Given the description of an element on the screen output the (x, y) to click on. 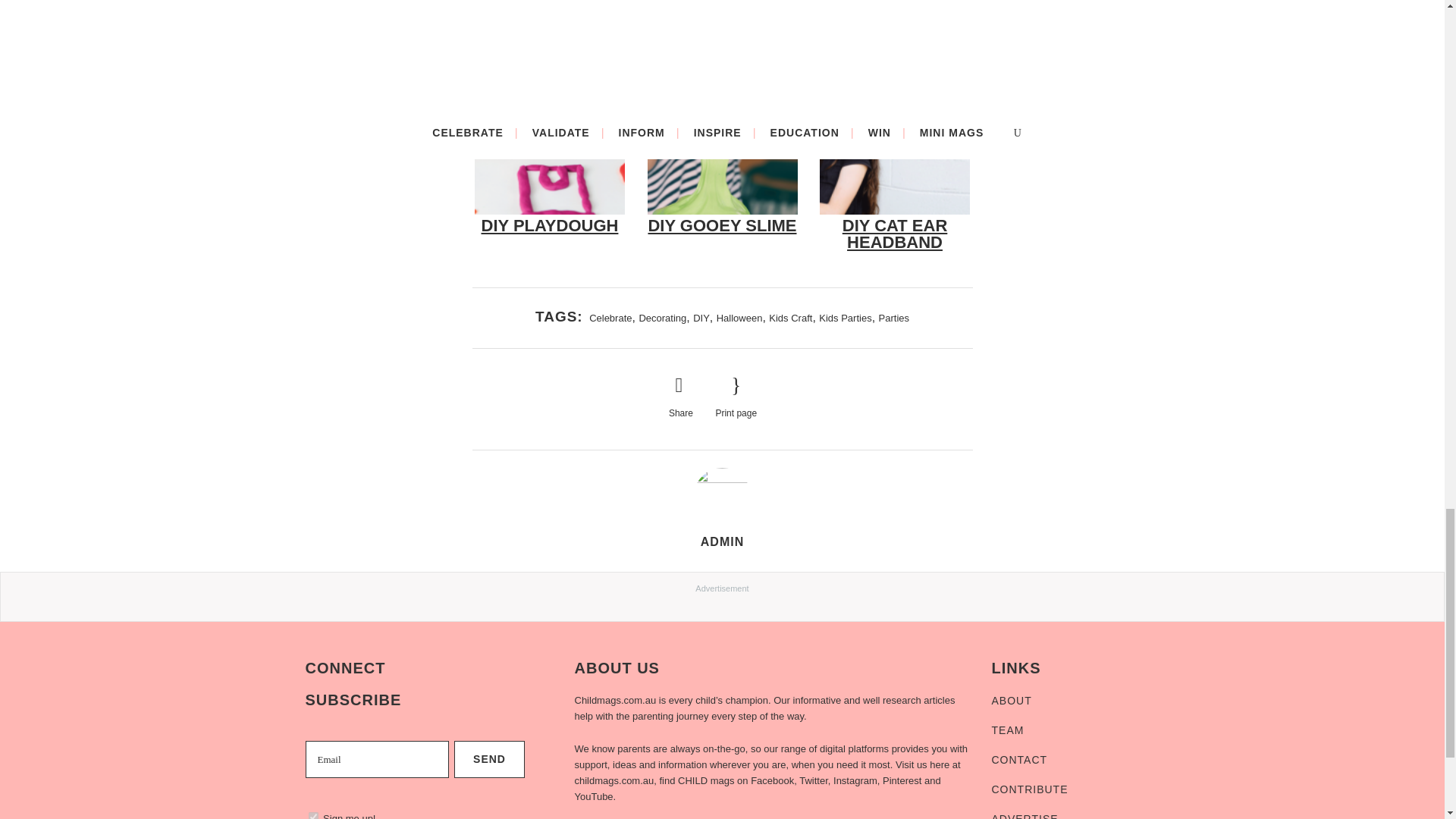
DIY GOOEY SLIME (721, 225)
DIY PLAYDOUGH (548, 225)
1 (312, 815)
Send (489, 759)
DIY CAT EAR HEADBAND (895, 233)
